Given the description of an element on the screen output the (x, y) to click on. 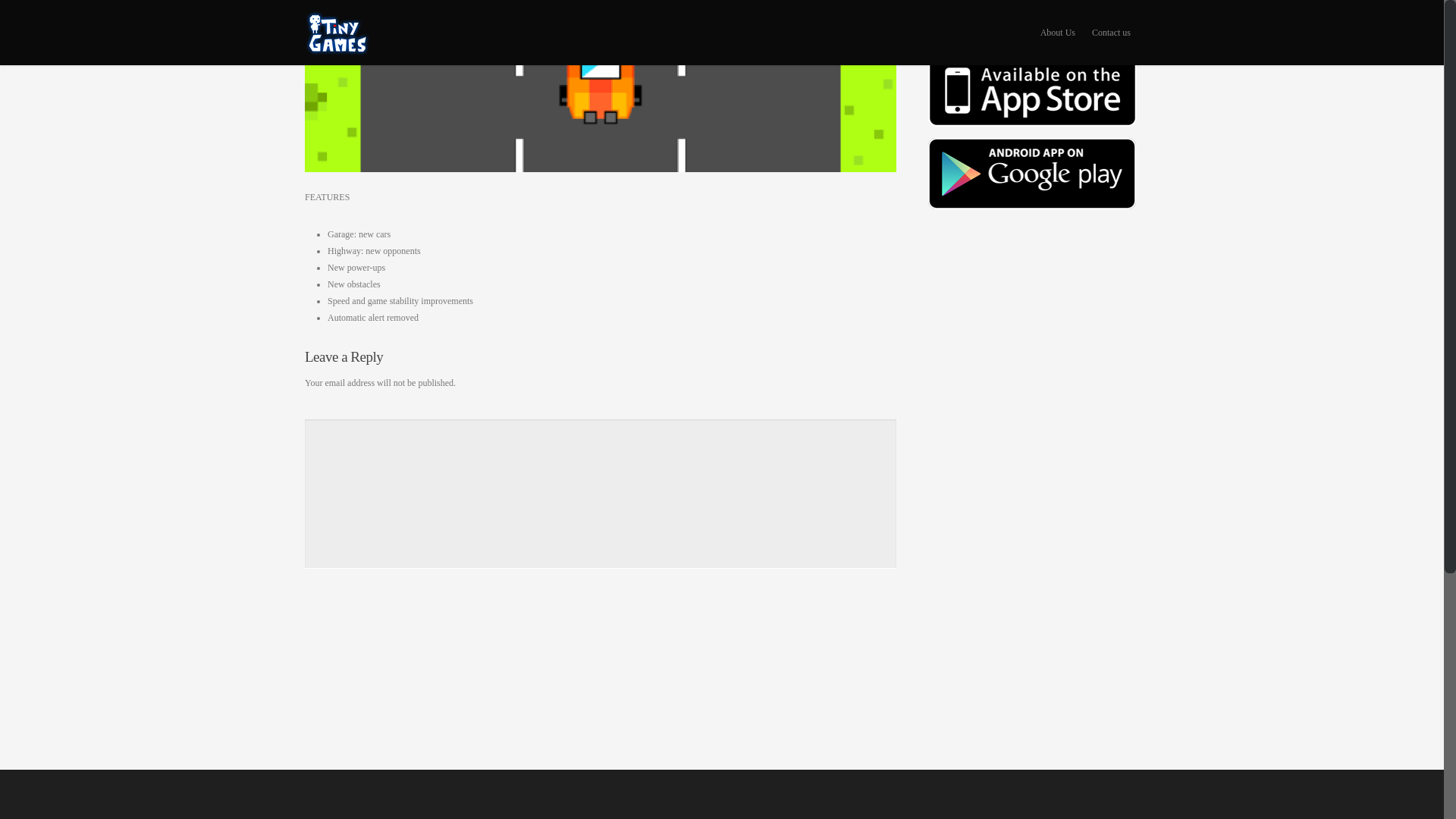
Submit Comment (347, 708)
Turbo Bit (1032, 173)
Turbo Bit (1032, 102)
